Given the description of an element on the screen output the (x, y) to click on. 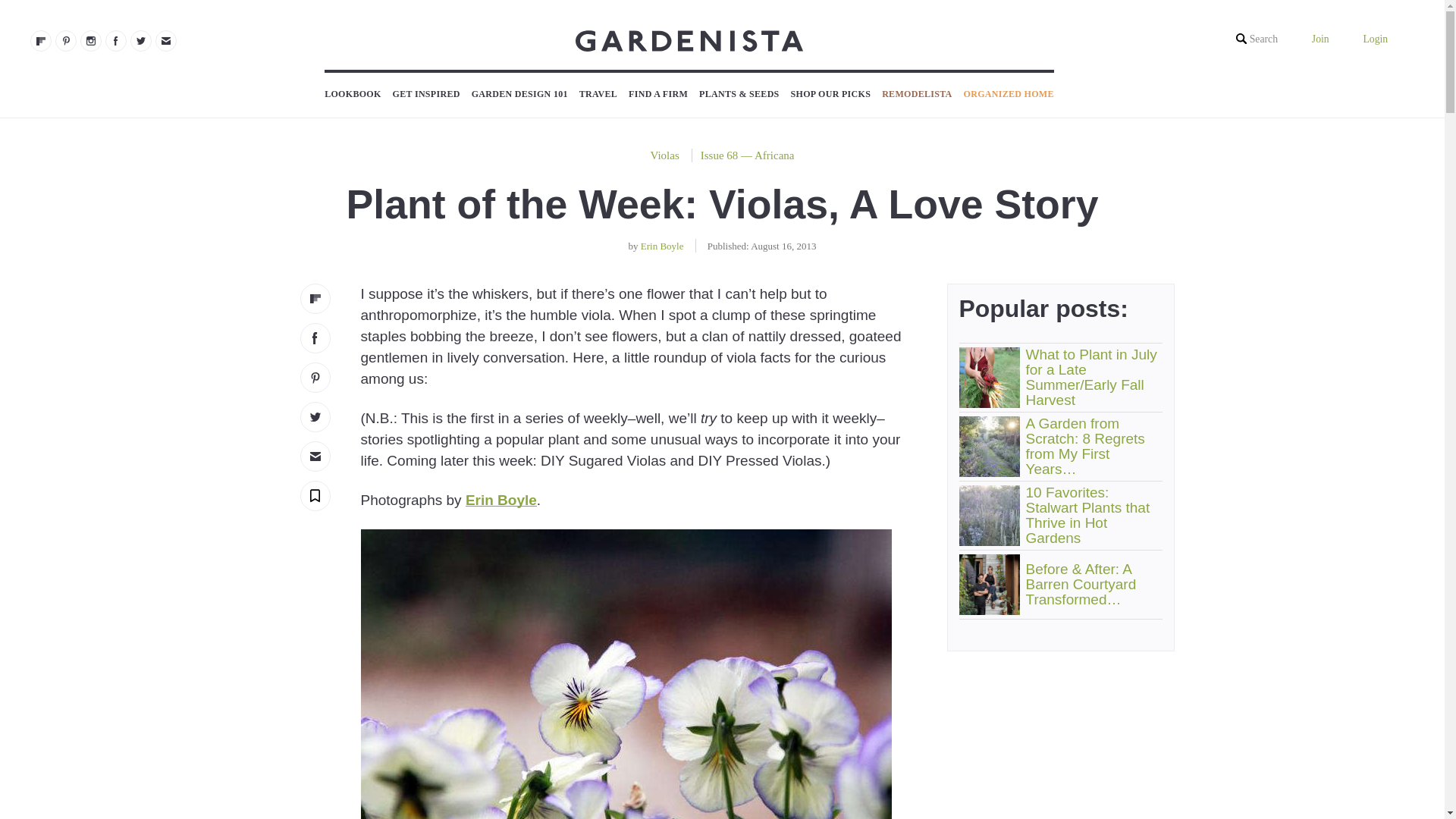
Posts by Erin Boyle (662, 245)
10 Favorites: Stalwart Plants that Thrive in Hot Gardens (988, 515)
